Given the description of an element on the screen output the (x, y) to click on. 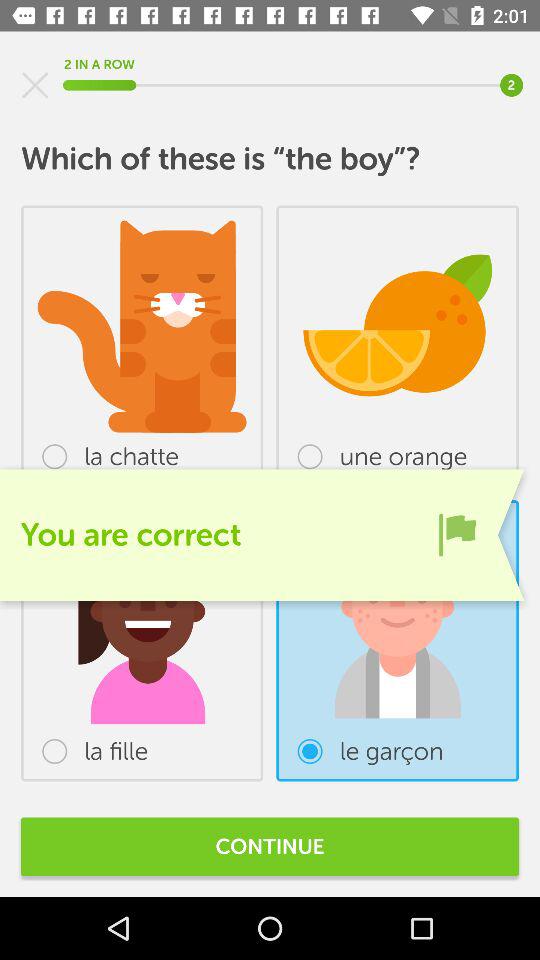
press continue (270, 846)
